Given the description of an element on the screen output the (x, y) to click on. 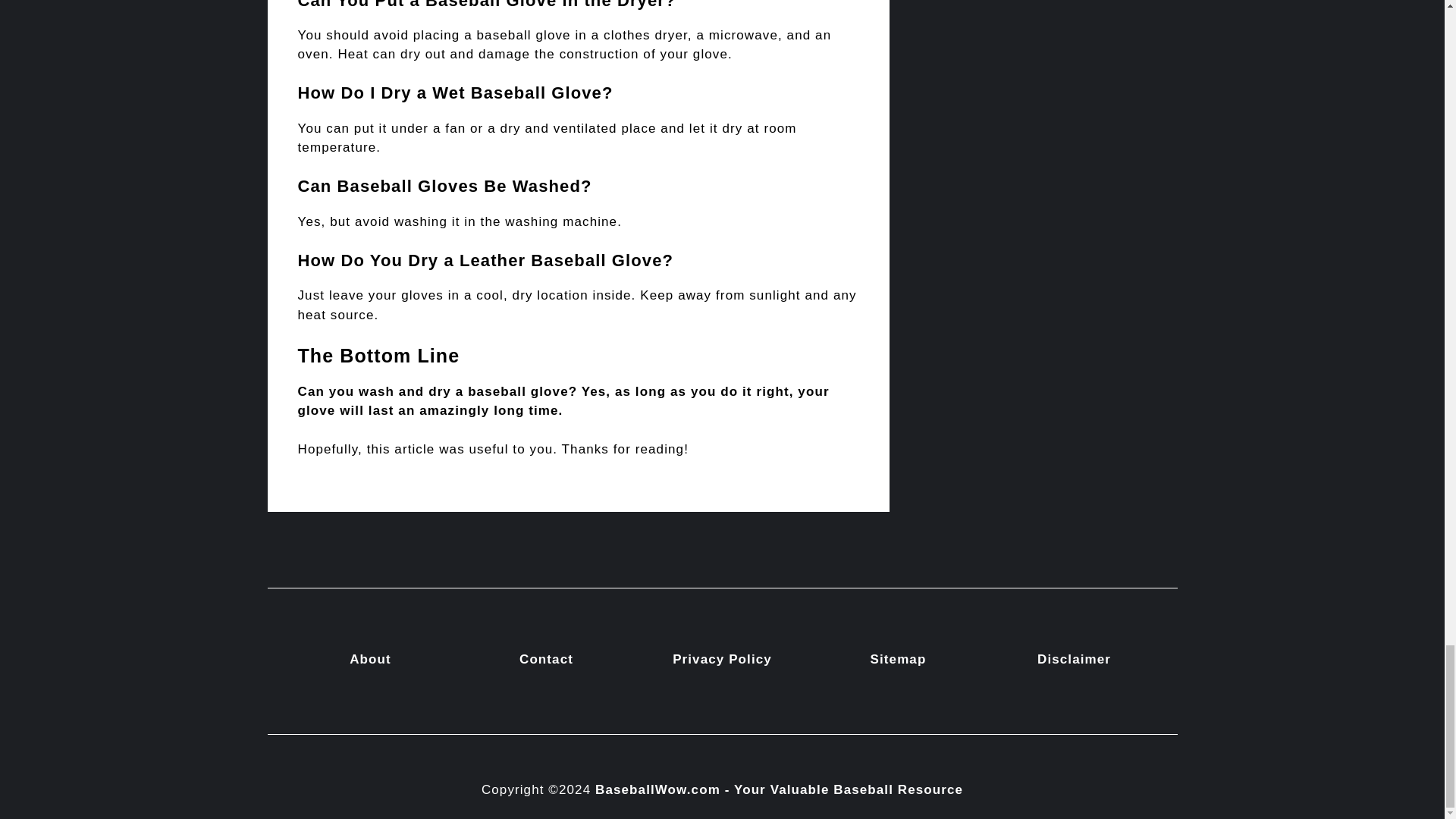
Sitemap (898, 658)
About (370, 658)
BaseballWow.com (657, 789)
Contact (546, 658)
Disclaimer (1073, 658)
Privacy Policy (721, 658)
